Given the description of an element on the screen output the (x, y) to click on. 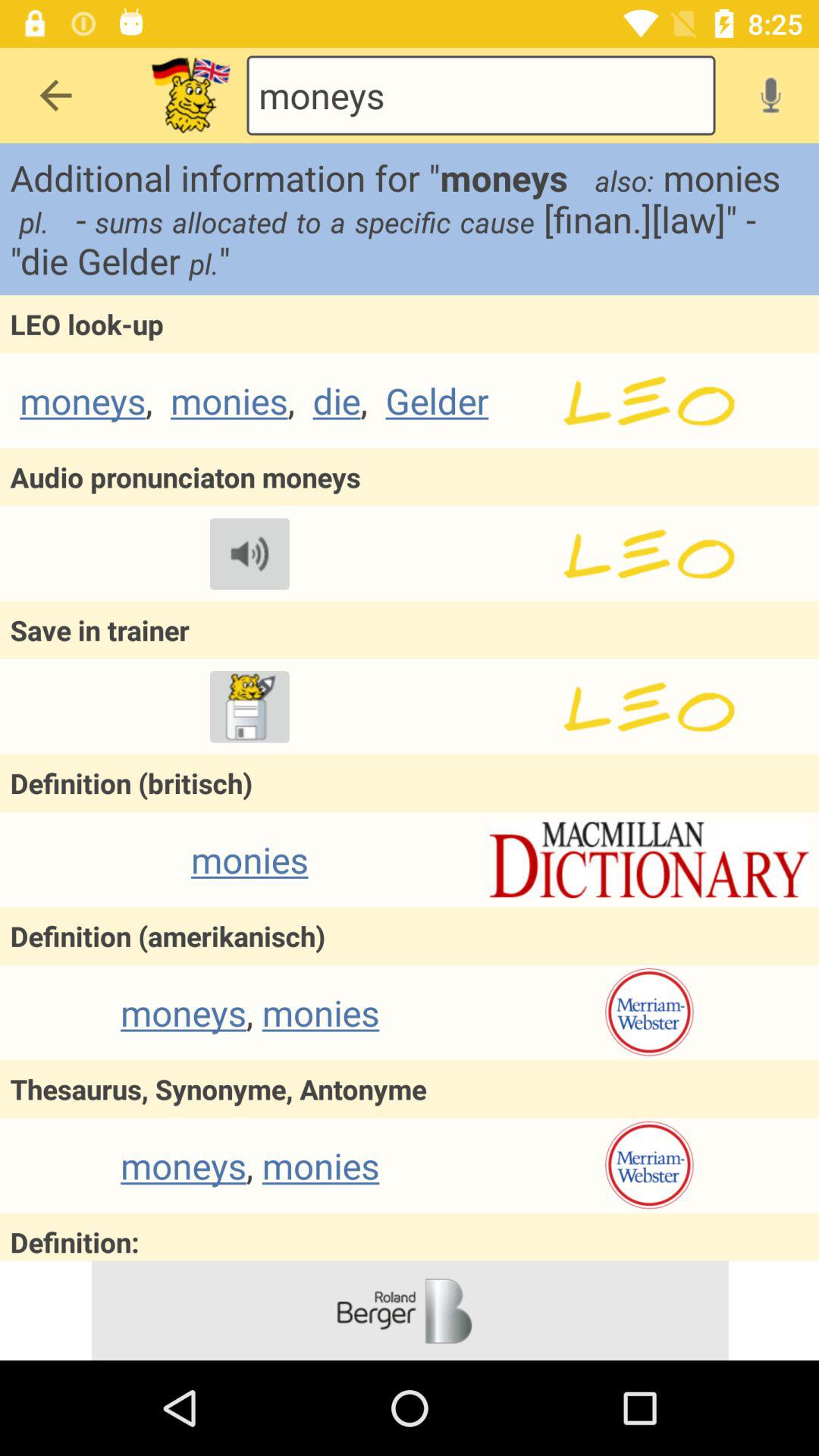
go to dictionary page (648, 859)
